Given the description of an element on the screen output the (x, y) to click on. 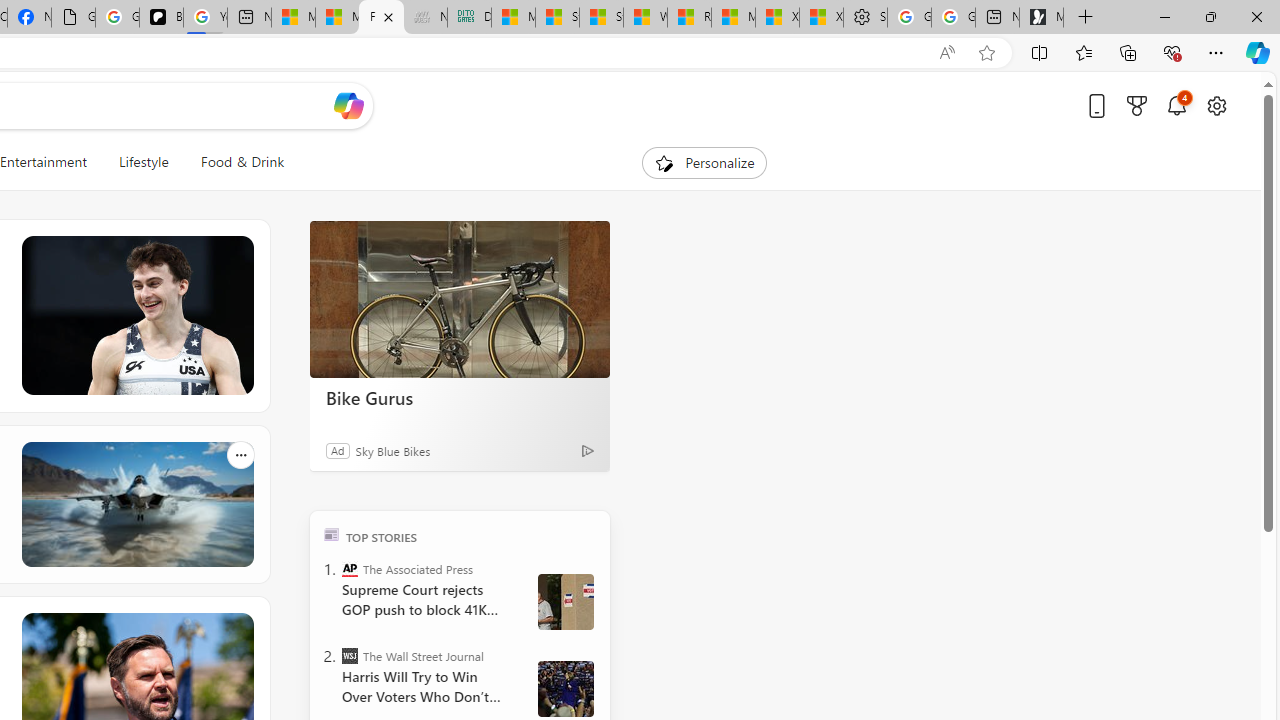
Bike Gurus (459, 397)
The Associated Press (349, 568)
